Given the description of an element on the screen output the (x, y) to click on. 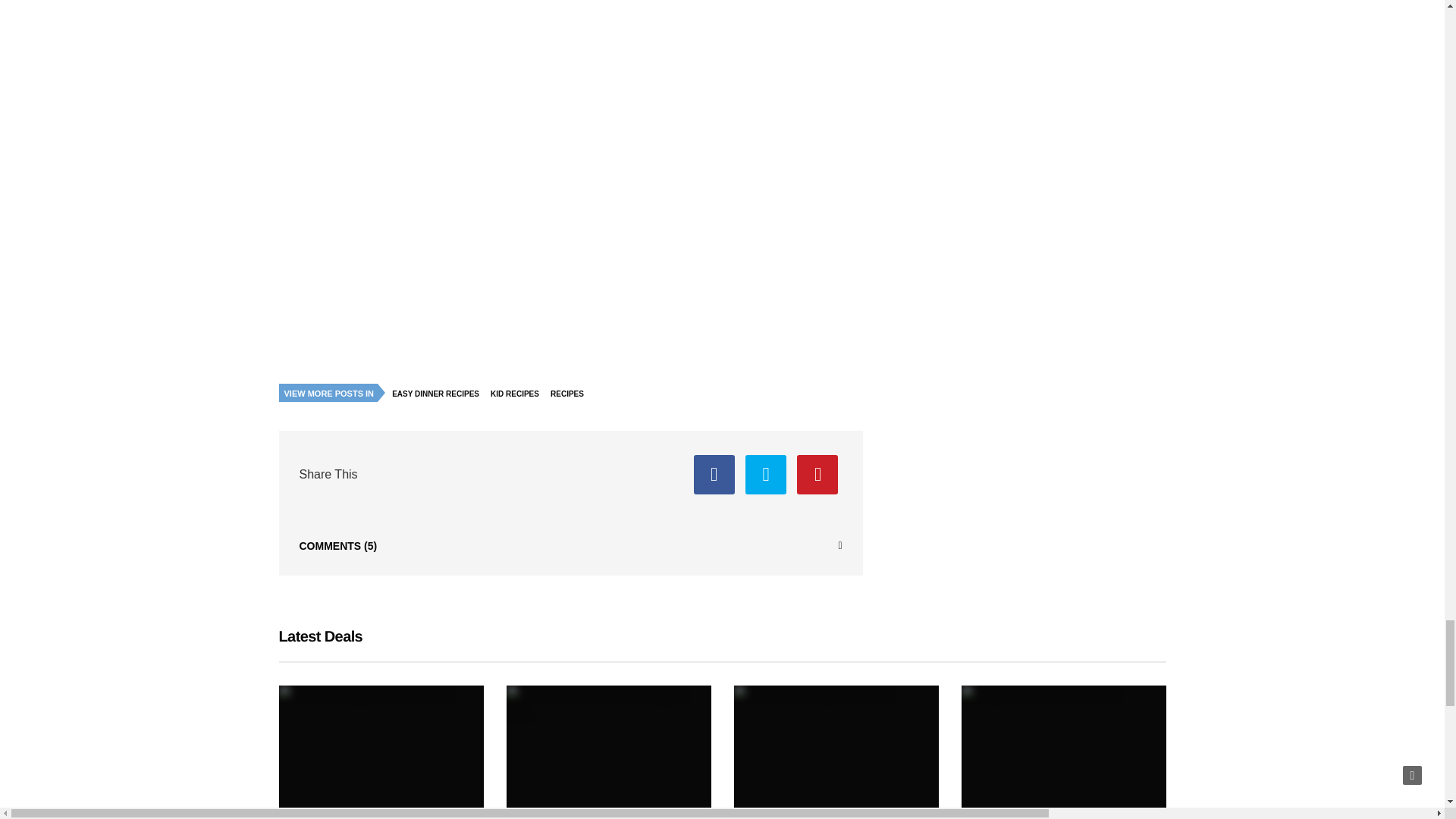
Kid Recipes (518, 394)
Easy Dinner Recipes (439, 394)
Recipes (571, 394)
